Given the description of an element on the screen output the (x, y) to click on. 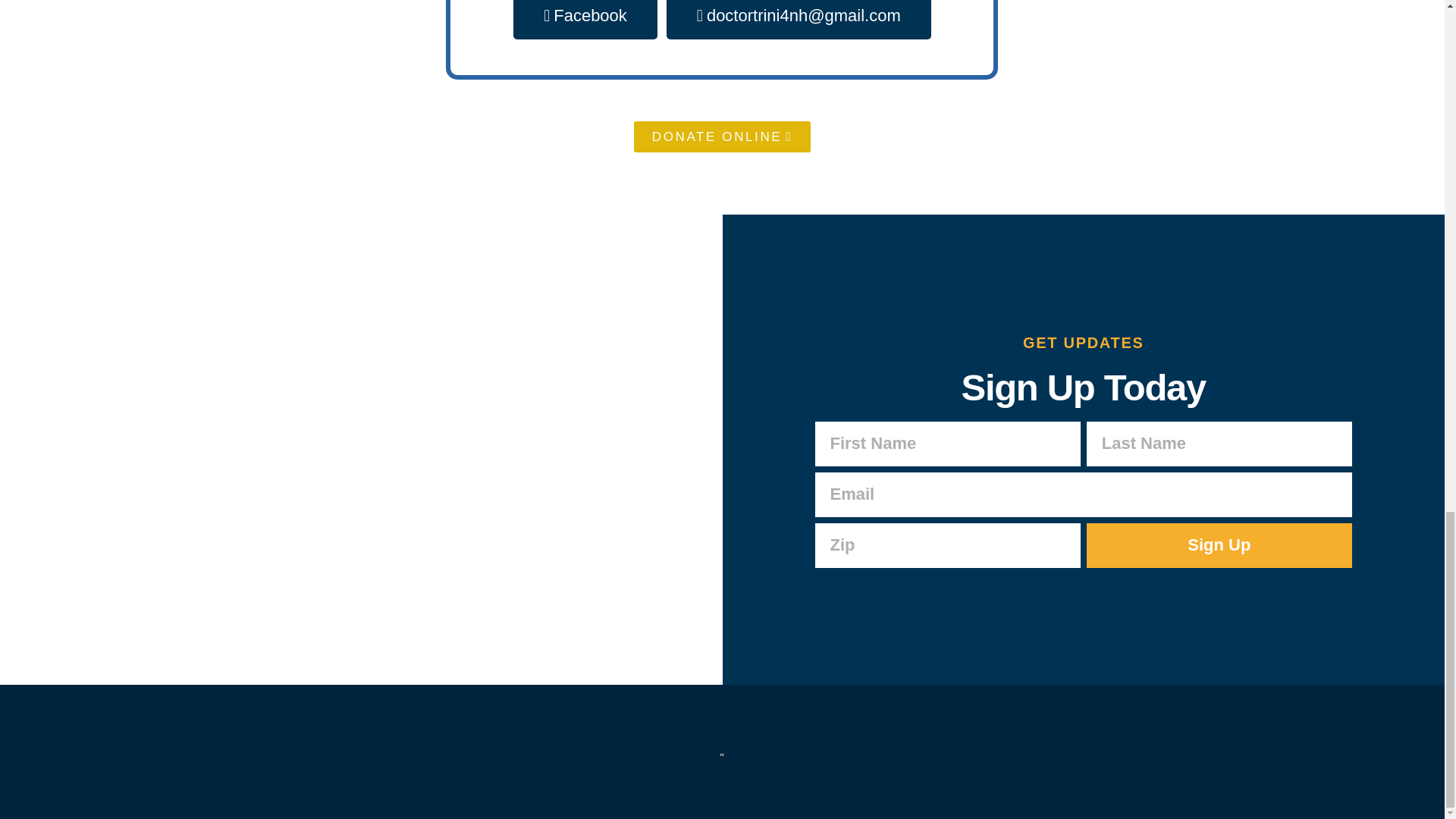
Facebook (585, 19)
DONATE ONLINE (721, 136)
Sign Up (1219, 545)
